Given the description of an element on the screen output the (x, y) to click on. 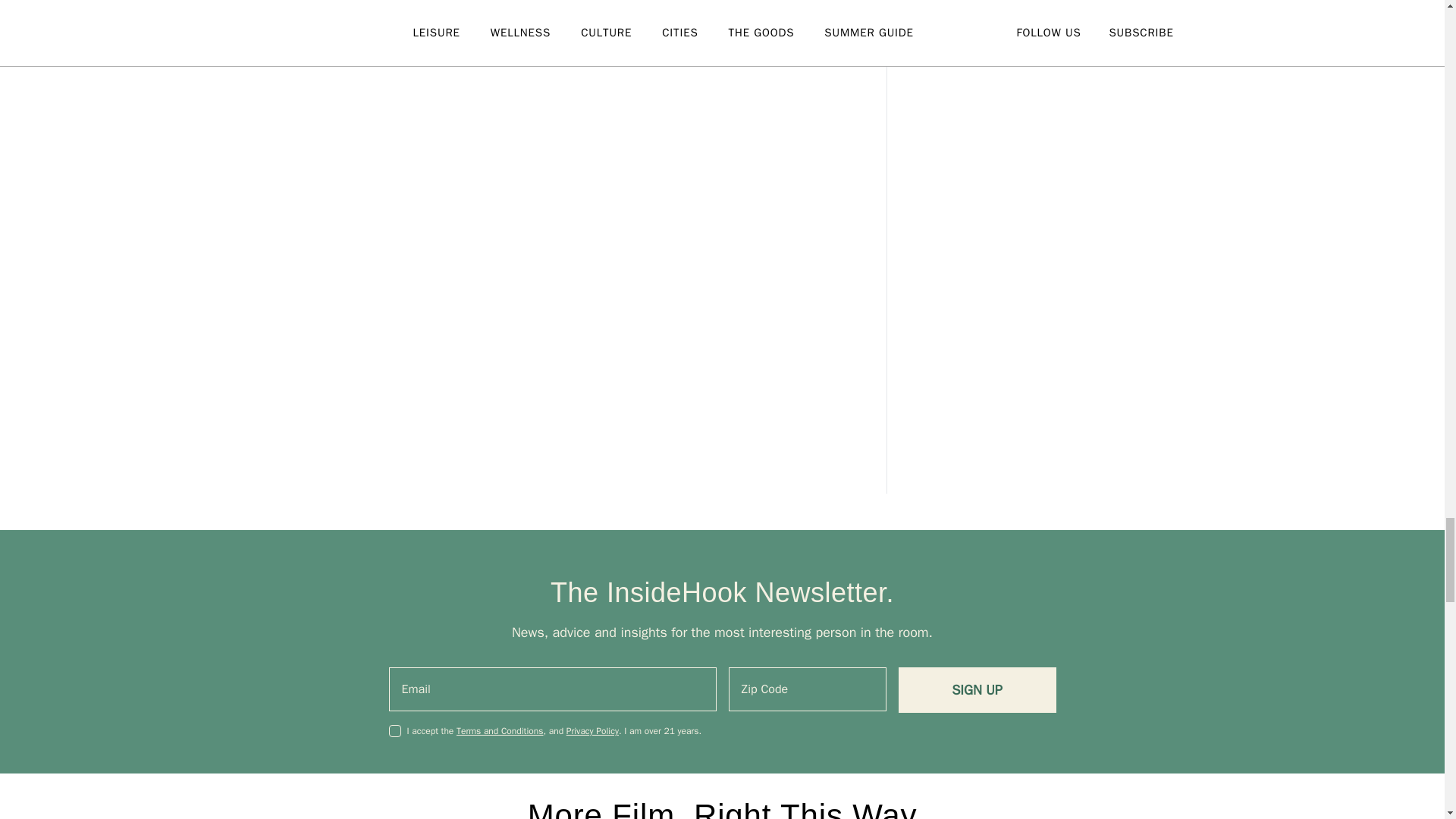
on (394, 730)
